Given the description of an element on the screen output the (x, y) to click on. 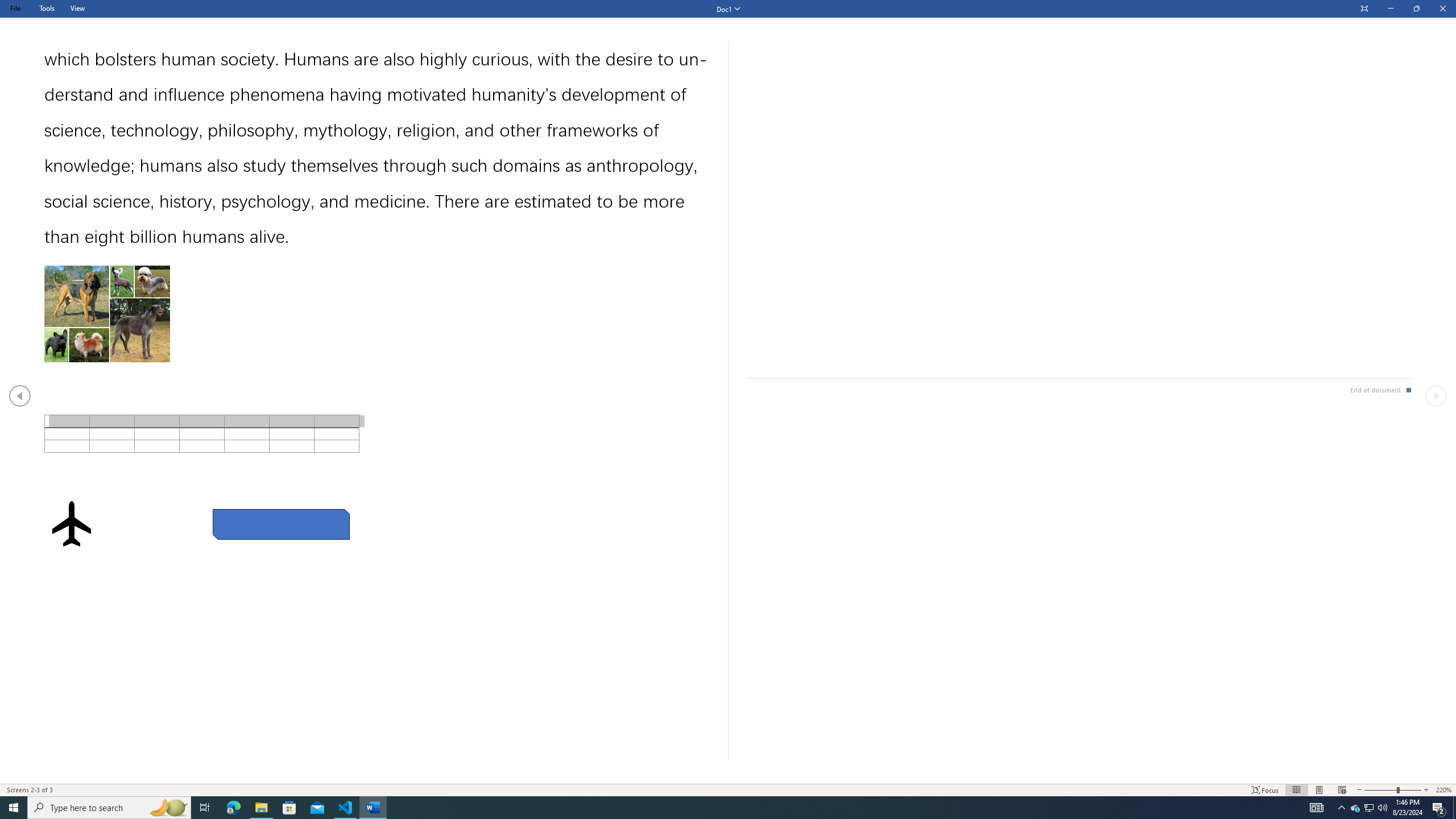
Increase Text Size (1426, 790)
Page Number Screens 2-3 of 3  (29, 790)
Decrease Text Size (1359, 790)
Auto-hide Reading Toolbar (1364, 9)
Airplane with solid fill (71, 523)
Rectangle: Diagonal Corners Snipped 2 (280, 524)
Text Size (1392, 790)
